Given the description of an element on the screen output the (x, y) to click on. 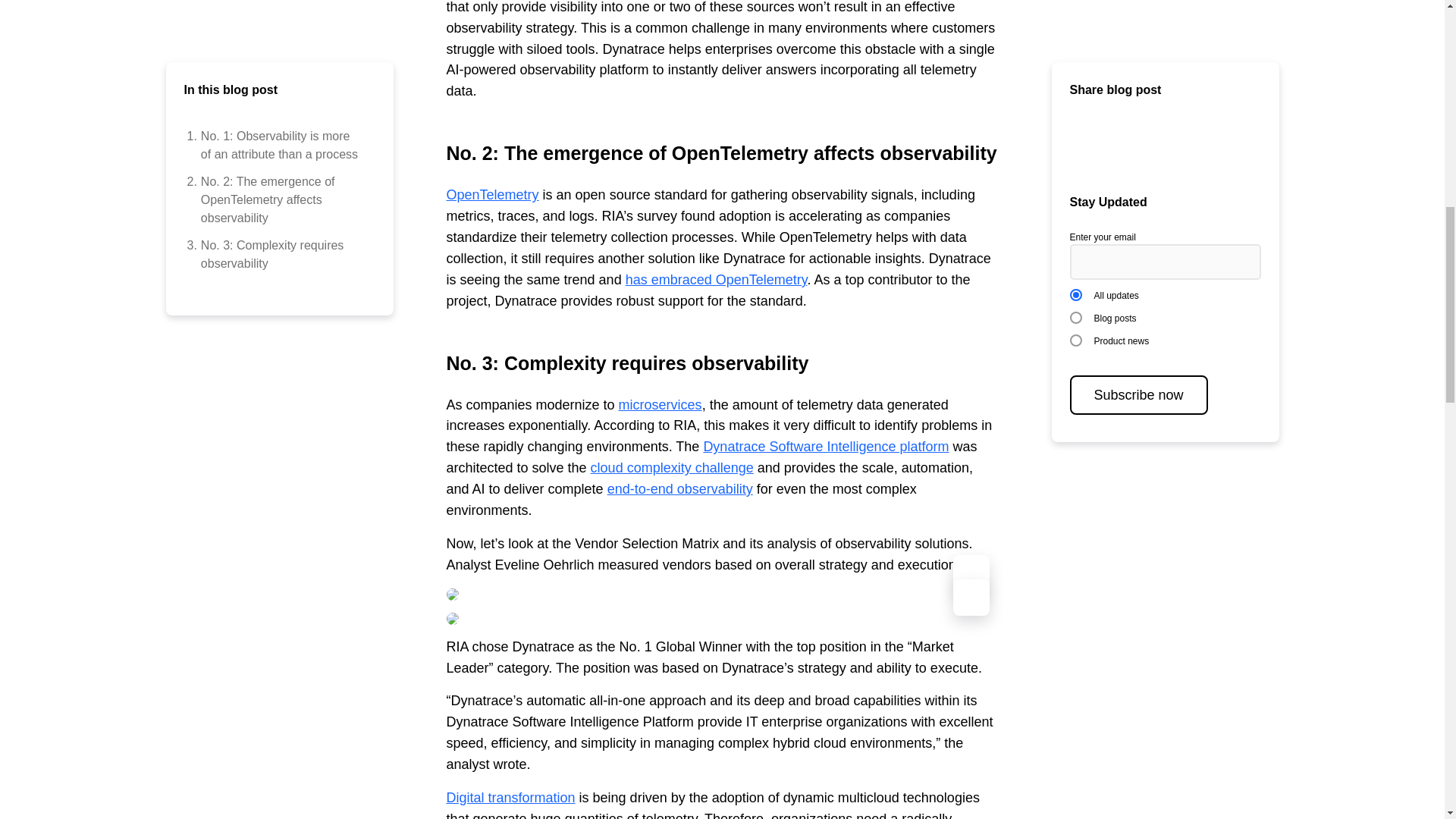
microservices (659, 404)
end-to-end observability (679, 488)
has embraced OpenTelemetry (717, 279)
cloud complexity challenge (672, 467)
Dynatrace Software Intelligence platform (826, 446)
OpenTelemetry (491, 194)
Digital transformation (510, 797)
